Given the description of an element on the screen output the (x, y) to click on. 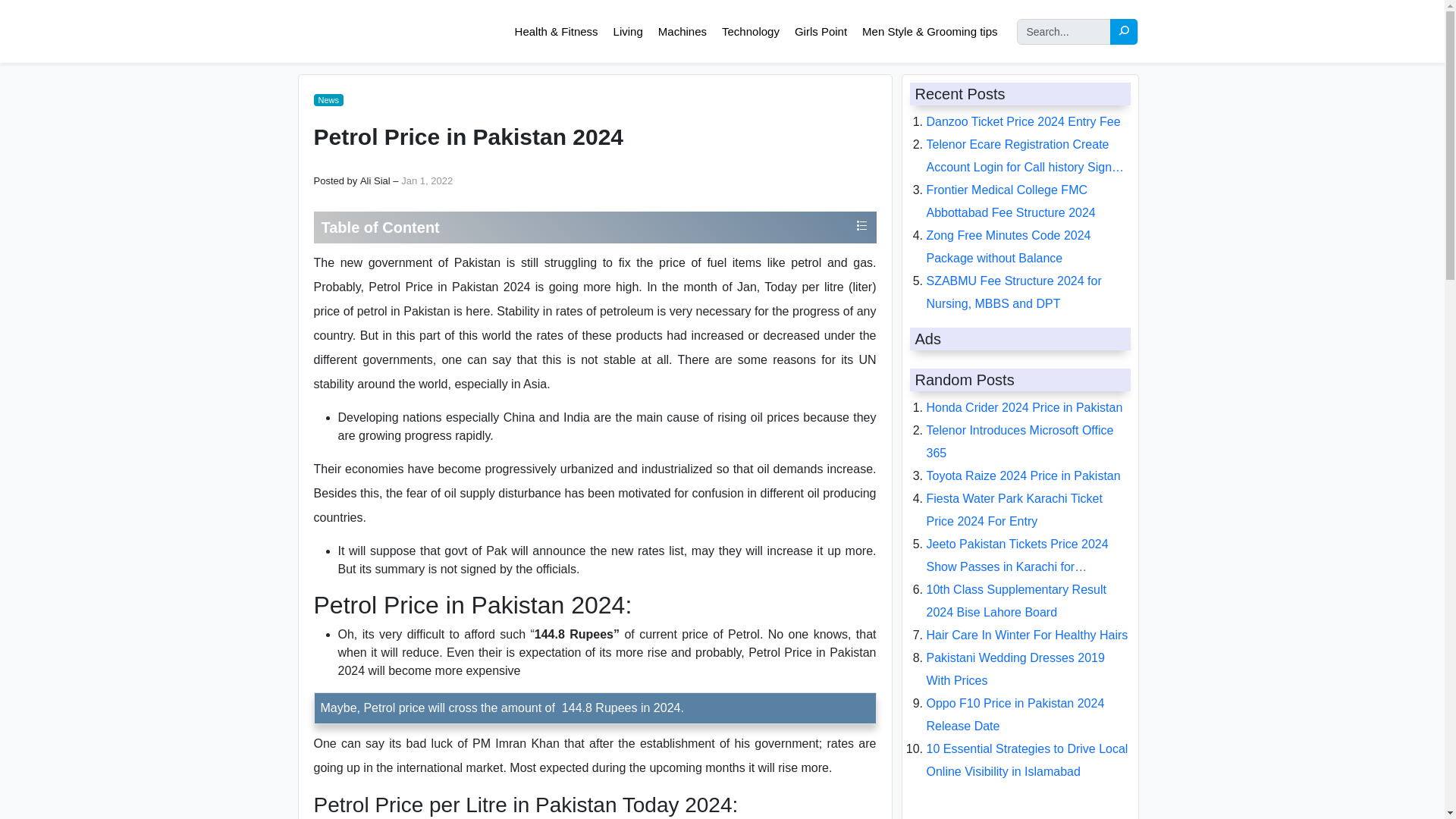
Machines (681, 31)
Toyota Raize 2024 Price in Pakistan (1023, 475)
Girls Point (820, 31)
Danzoo Ticket Price 2024 Entry Fee (1023, 121)
Zong Free Minutes Code 2024 Package without Balance (1008, 246)
Living (628, 31)
Hair Care In Winter For Healthy Hairs (1027, 634)
Technology (750, 31)
Frontier Medical College FMC Abbottabad Fee Structure 2024 (1011, 201)
